Given the description of an element on the screen output the (x, y) to click on. 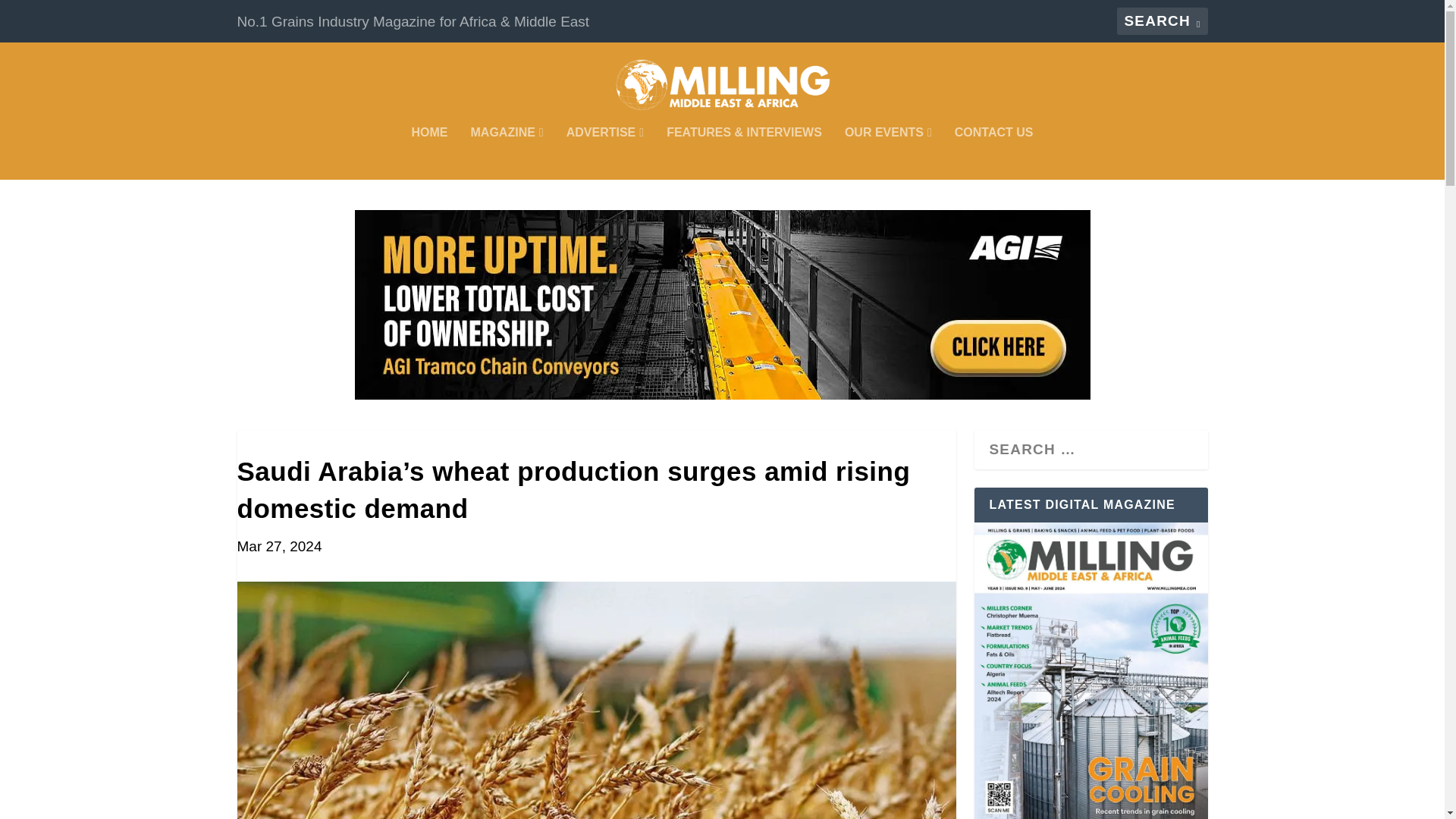
OUR EVENTS (887, 152)
CONTACT US (994, 152)
ADVERTISE (604, 152)
MAGAZINE (506, 152)
Search for: (1161, 21)
